Given the description of an element on the screen output the (x, y) to click on. 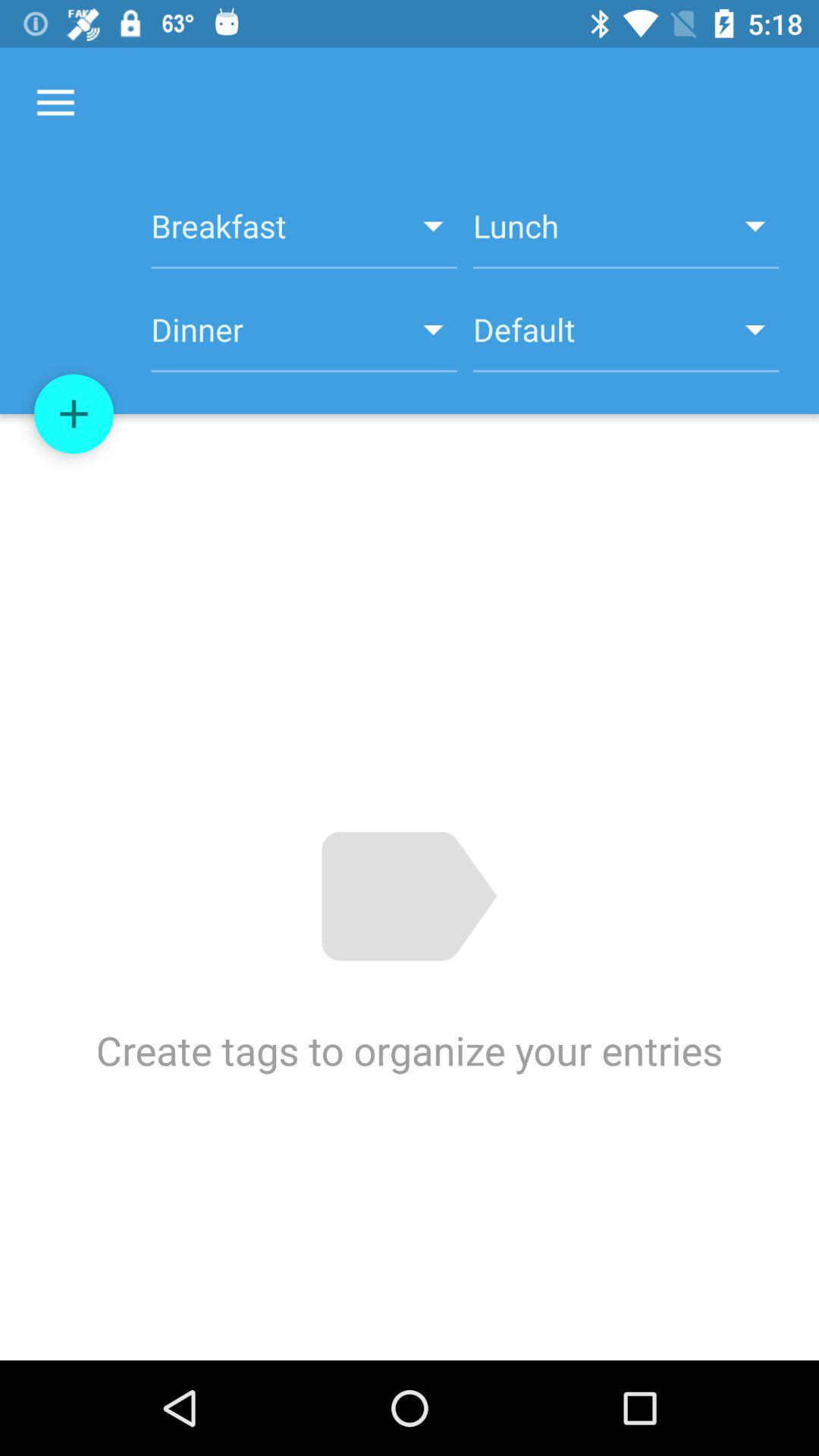
add entry (73, 413)
